Given the description of an element on the screen output the (x, y) to click on. 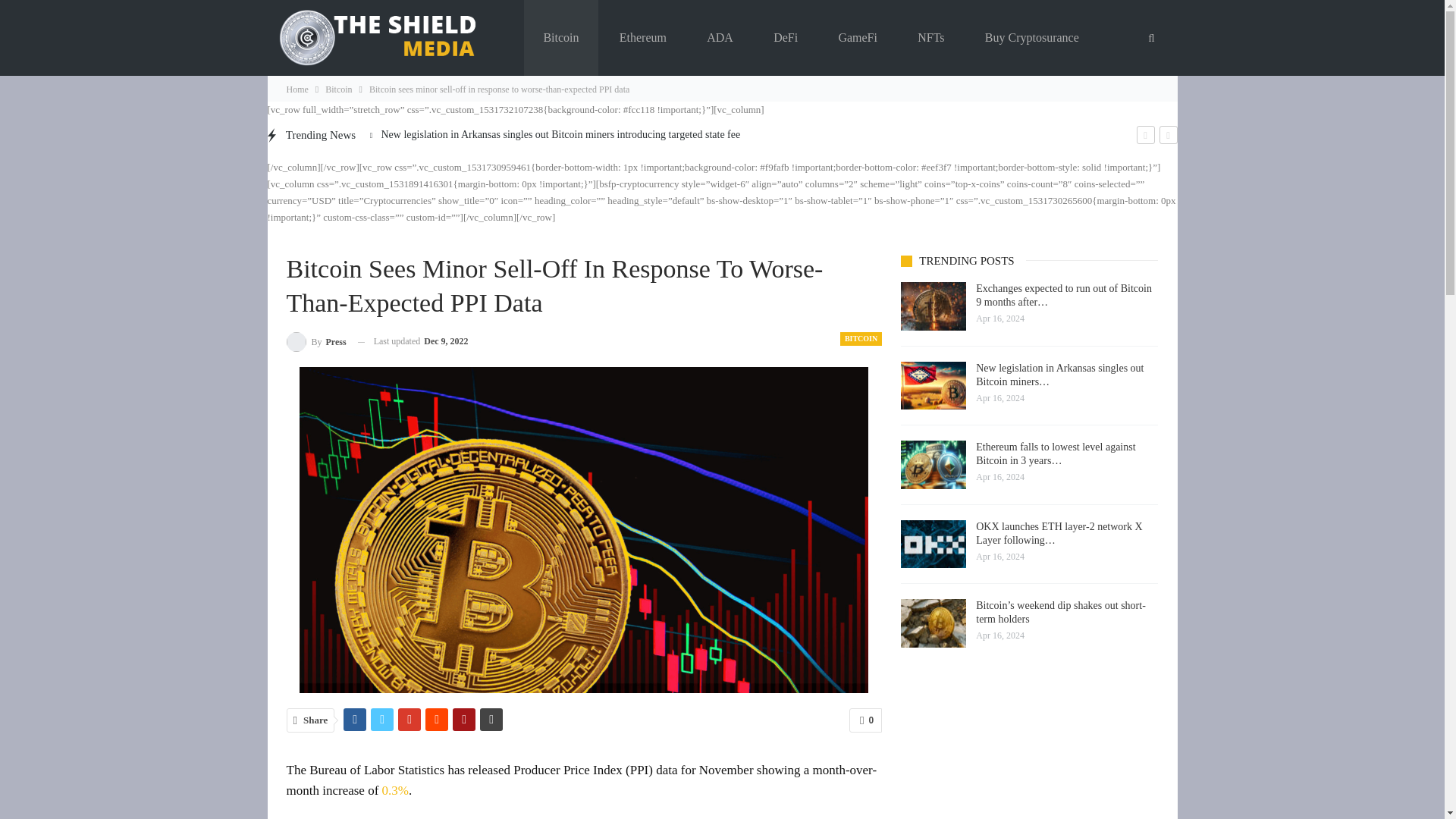
Buy Cryptosurance (1031, 38)
Ethereum (642, 38)
Bitcoin (338, 89)
0 (865, 720)
Home (297, 89)
BITCOIN (861, 338)
Browse Author Articles (316, 341)
By Press (316, 341)
Bitcoin (560, 38)
GameFi (857, 38)
